Given the description of an element on the screen output the (x, y) to click on. 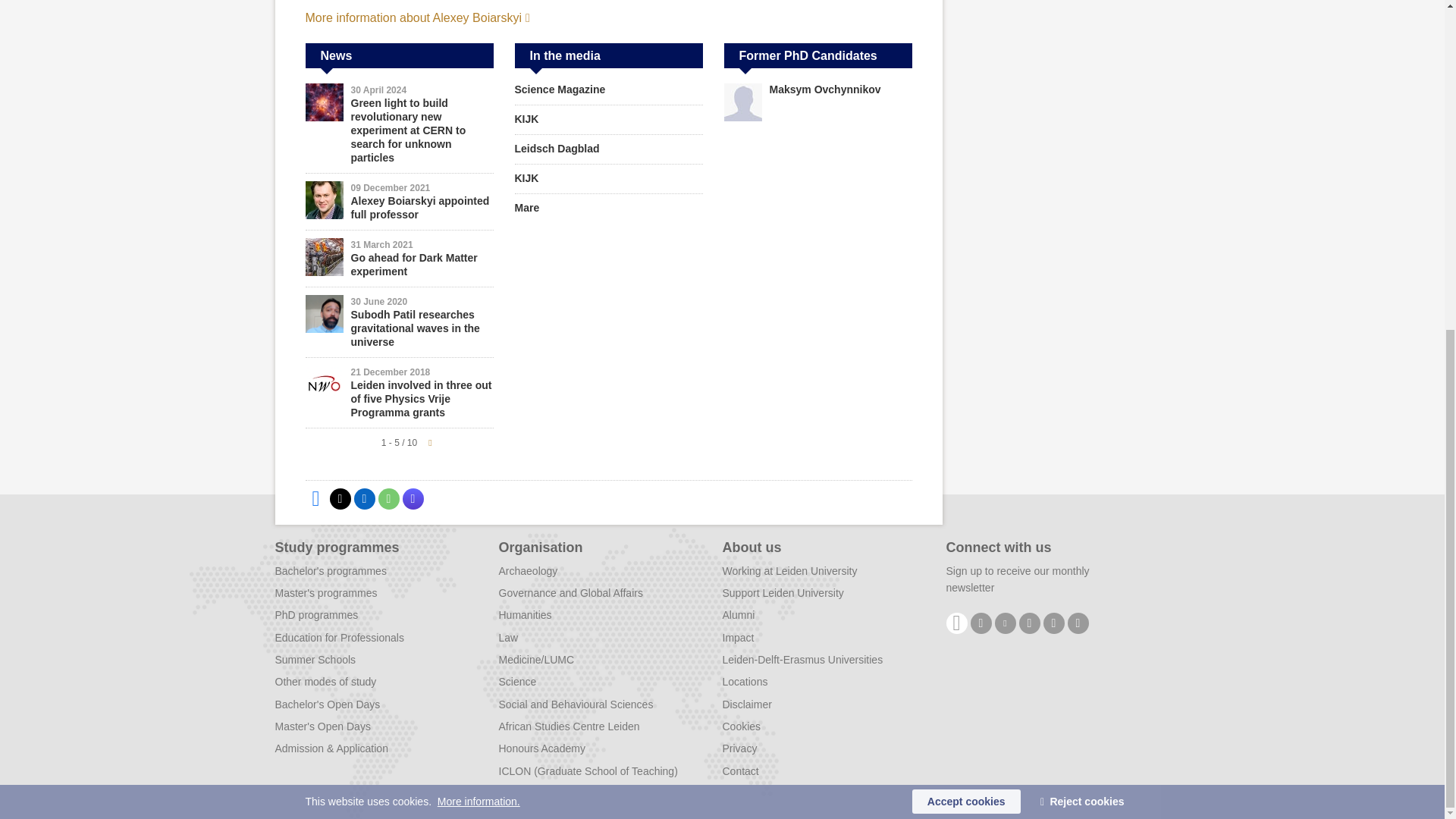
Share by Mastodon (412, 498)
Share on Facebook (315, 498)
Share on X (339, 498)
Share by WhatsApp (387, 498)
Share on LinkedIn (363, 498)
